Given the description of an element on the screen output the (x, y) to click on. 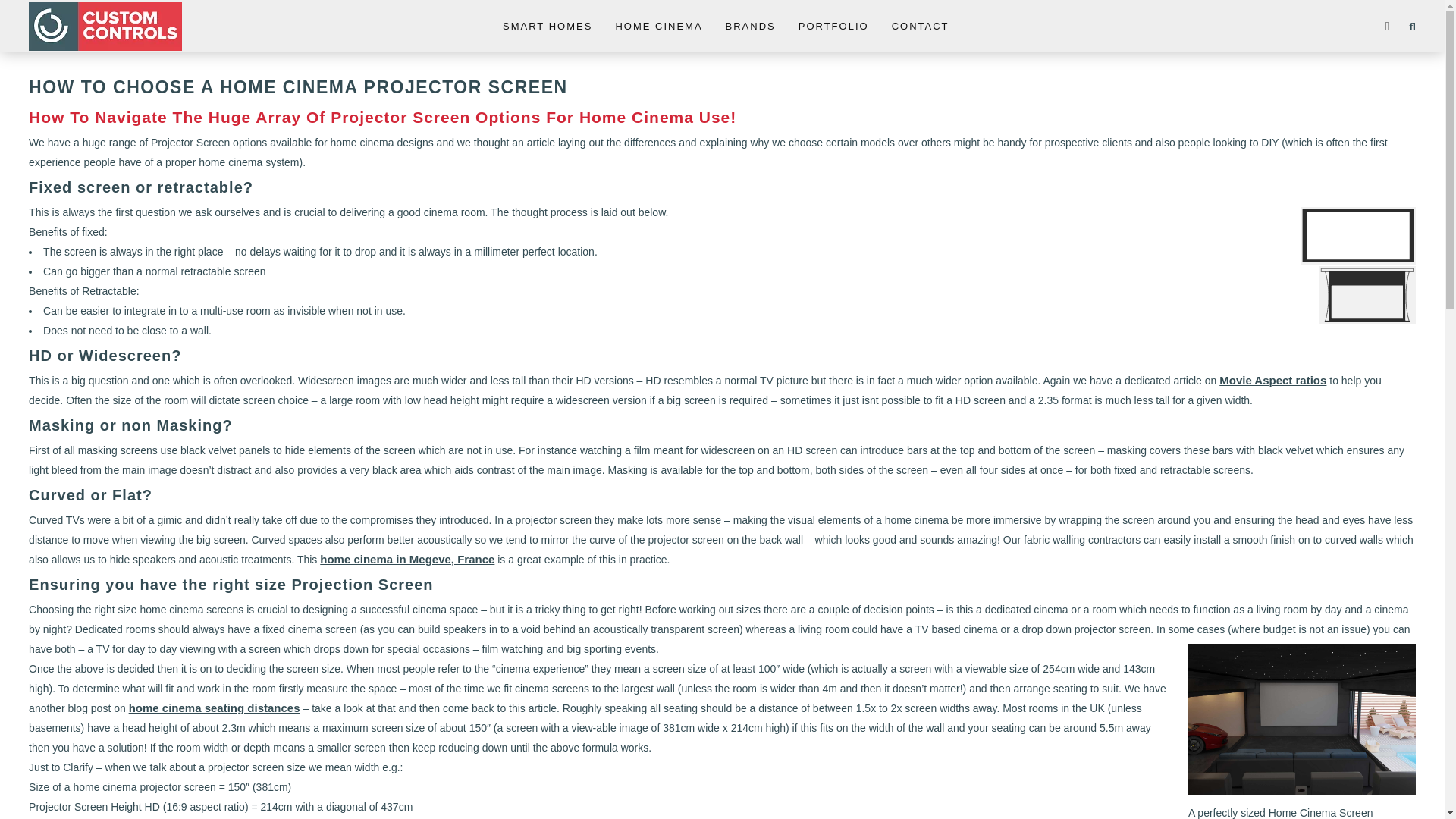
BRANDS (750, 26)
home cinema in Megeve, France (407, 558)
HOME CINEMA (657, 26)
home cinema seating distances (214, 707)
CONTACT (920, 26)
SMART HOMES (547, 26)
PORTFOLIO (833, 26)
Movie Aspect ratios (1273, 379)
